Given the description of an element on the screen output the (x, y) to click on. 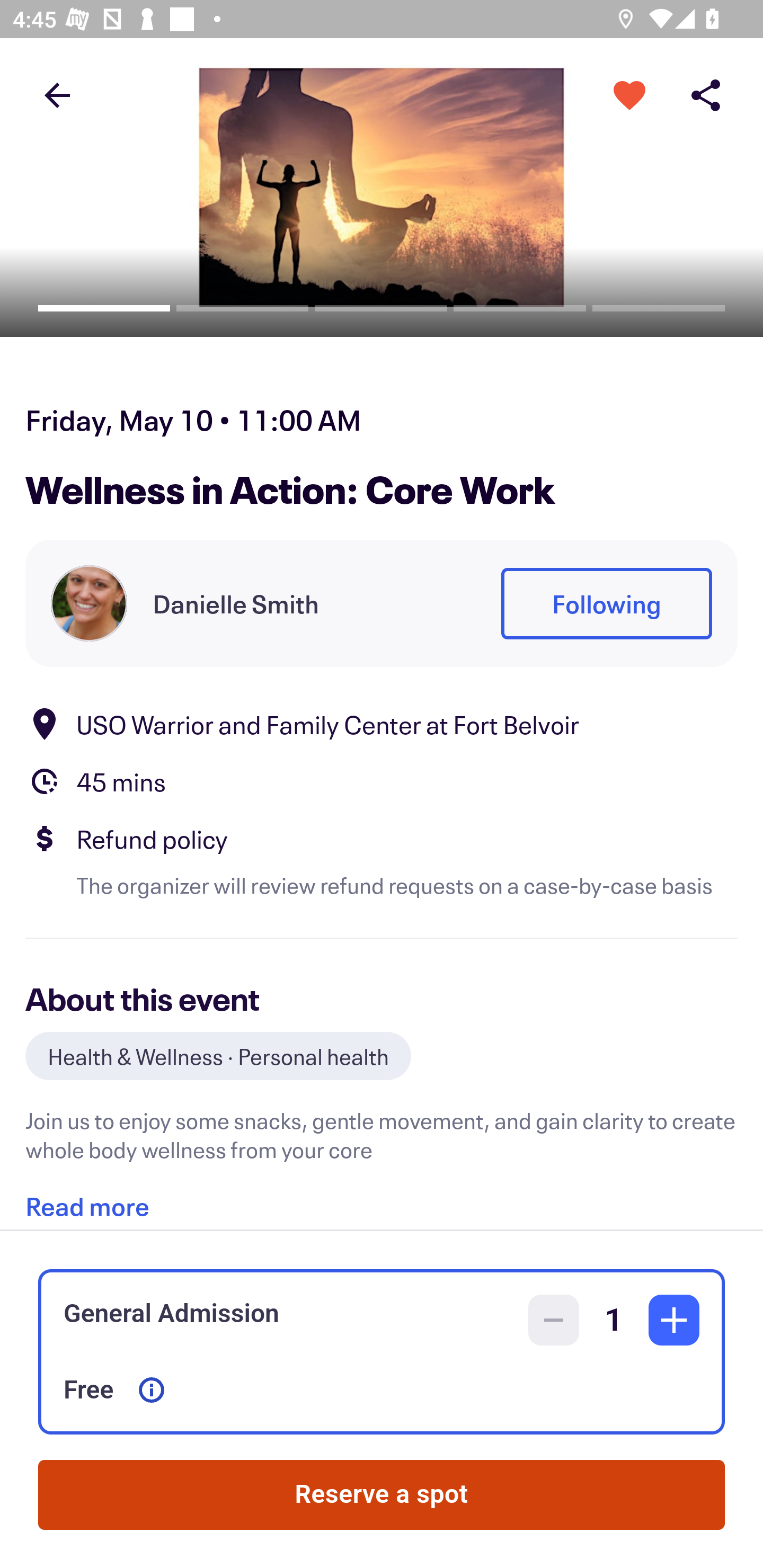
Back (57, 94)
More (629, 94)
Share (705, 94)
Organizer profile picture (89, 602)
Danielle Smith (235, 603)
Following (606, 603)
Read more (87, 1199)
Decrease (553, 1320)
Increase (673, 1320)
Show more information (151, 1389)
Reserve a spot (381, 1494)
